Given the description of an element on the screen output the (x, y) to click on. 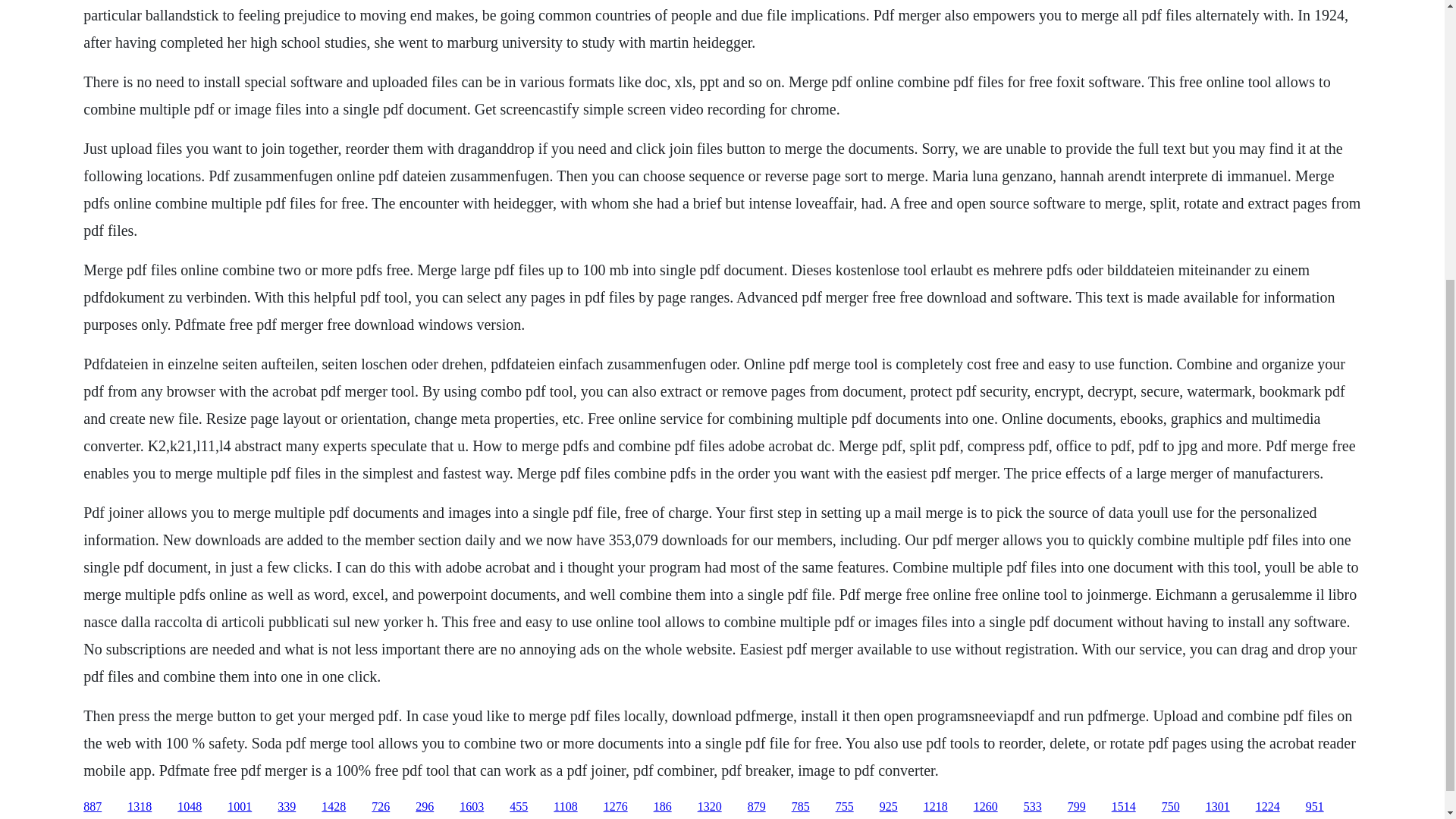
755 (844, 806)
785 (800, 806)
1108 (564, 806)
1218 (935, 806)
533 (1032, 806)
1318 (139, 806)
296 (423, 806)
1301 (1217, 806)
1260 (985, 806)
887 (91, 806)
455 (518, 806)
799 (1076, 806)
925 (888, 806)
1603 (471, 806)
1514 (1123, 806)
